Given the description of an element on the screen output the (x, y) to click on. 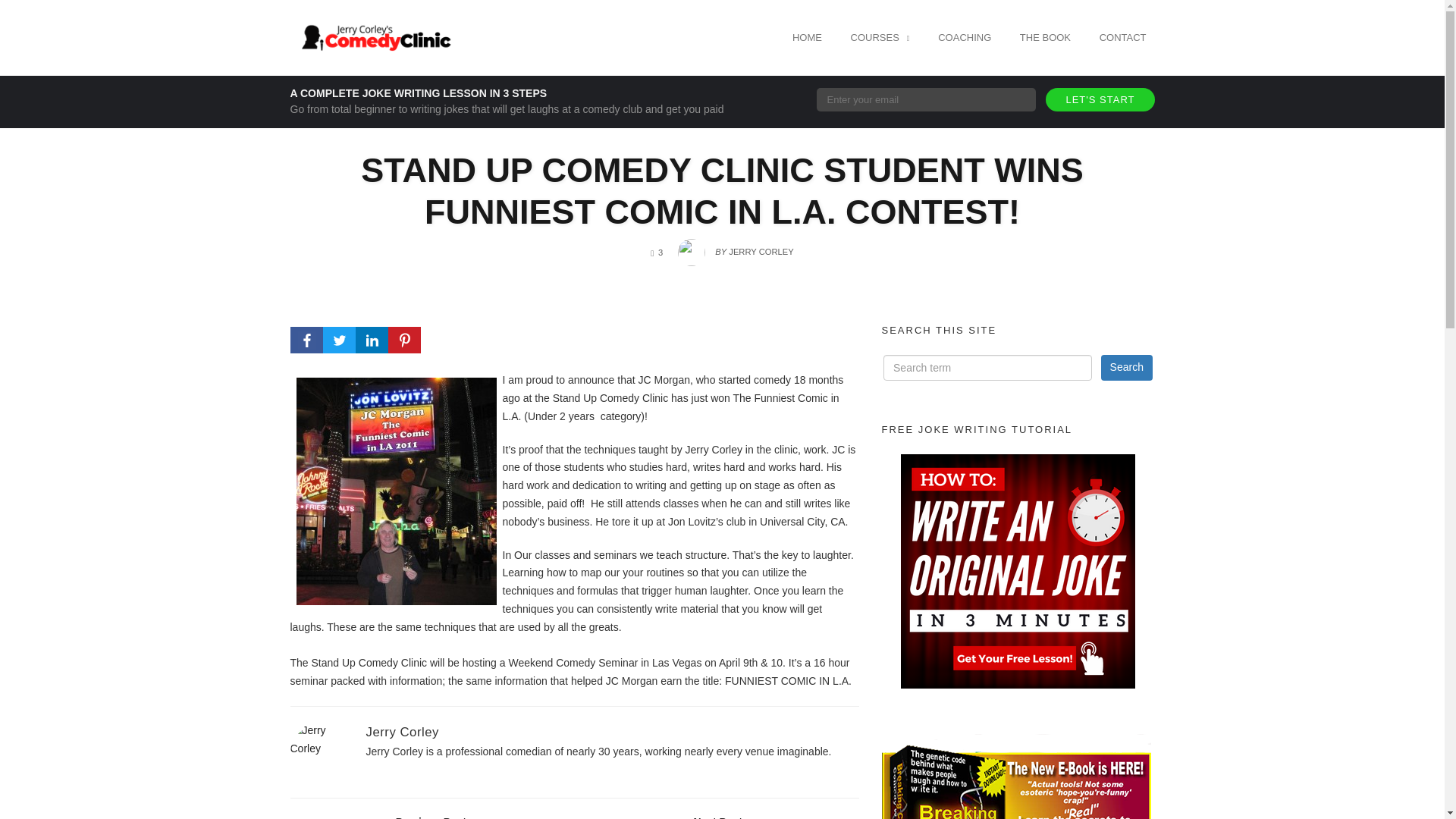
Classes and Workshops (880, 37)
Stand Up Comedy Clinic (373, 36)
CONTACT (1122, 37)
COACHING (964, 37)
Search (1126, 367)
COURSES (880, 37)
LET'S START (1099, 99)
Think Like a Comedian and Start Your Day with Observations (427, 816)
THE BOOK (1044, 37)
Comedy Coaching on Zoom (964, 37)
Even Pros Get Hecklers (722, 816)
